Given the description of an element on the screen output the (x, y) to click on. 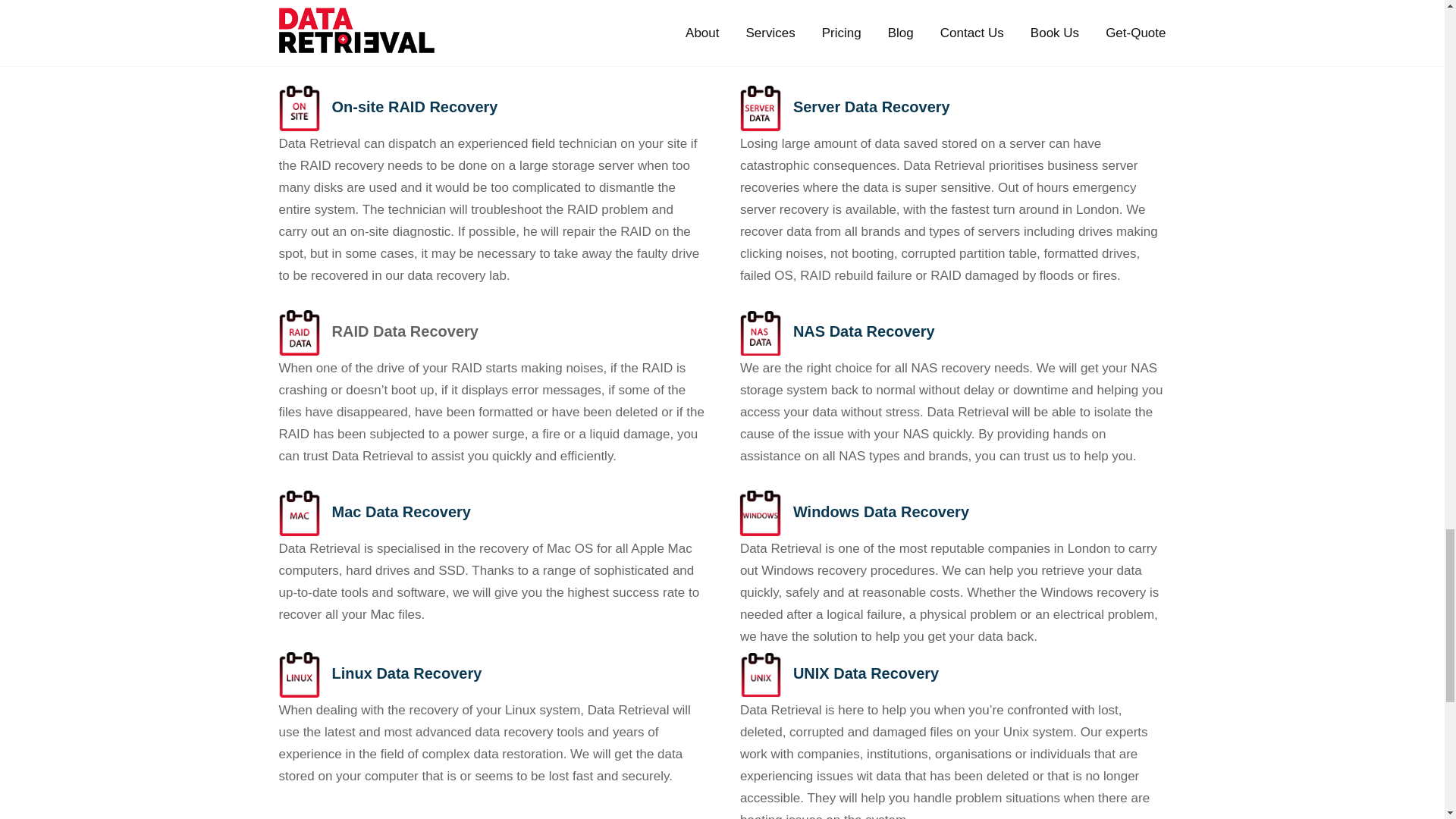
Server Data Recovery (871, 106)
On-site RAID Recovery (414, 106)
NAS Data Recovery (863, 330)
